Given the description of an element on the screen output the (x, y) to click on. 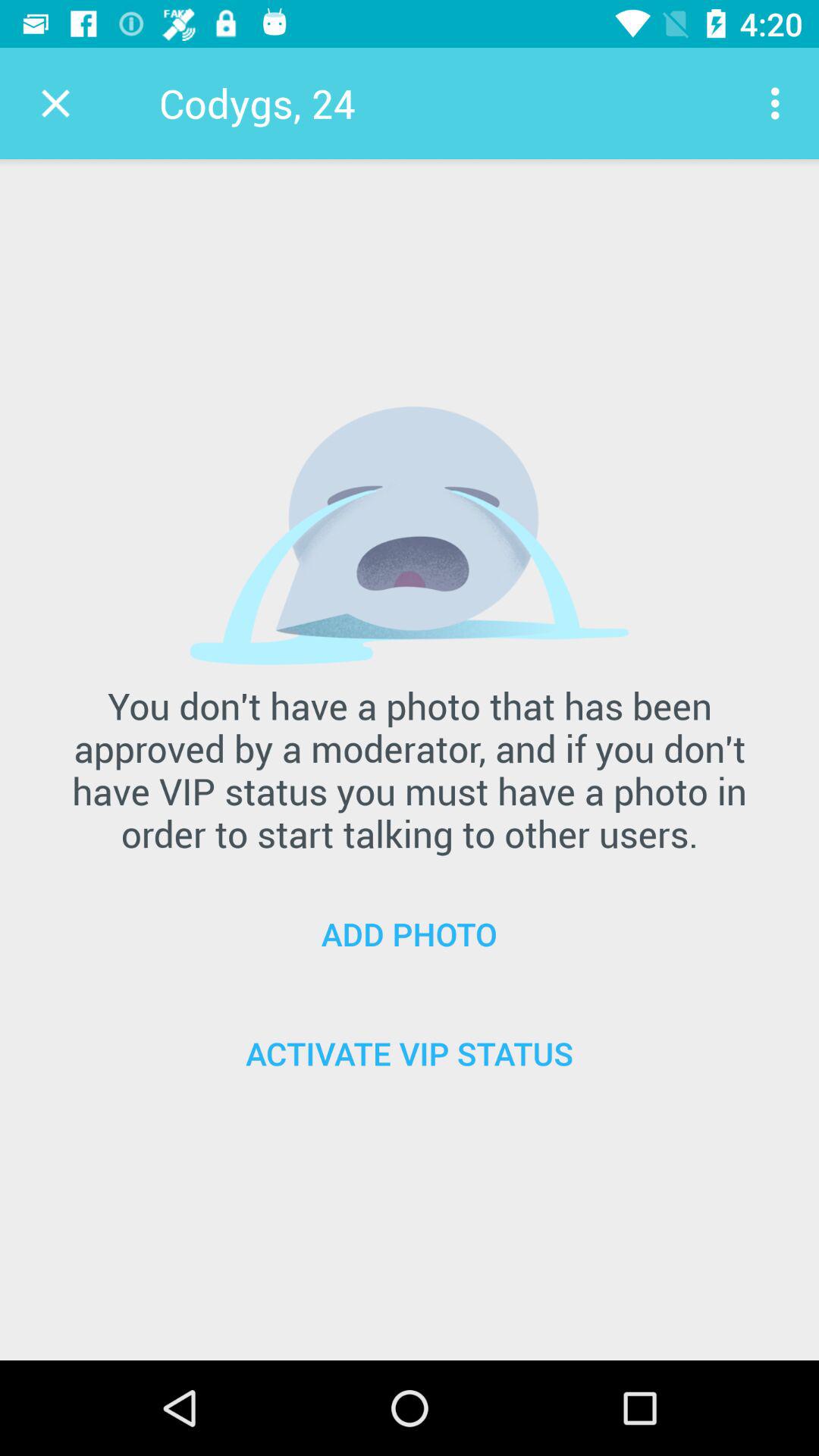
jump to add photo icon (409, 933)
